Given the description of an element on the screen output the (x, y) to click on. 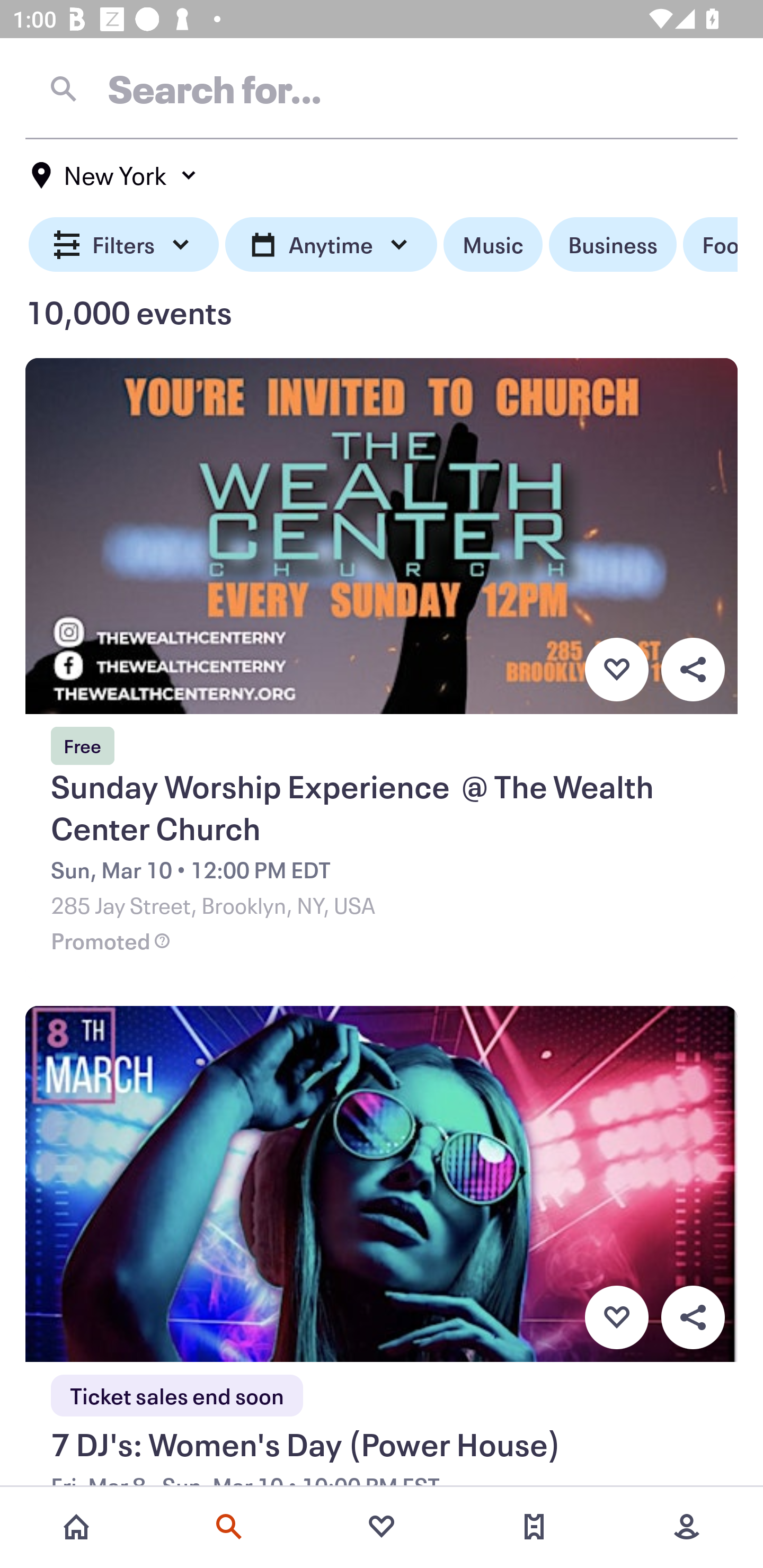
Search for… (381, 88)
New York (114, 175)
Filters (123, 244)
Anytime (331, 244)
Music (492, 244)
Business (612, 244)
Favorite button (616, 669)
Overflow menu button (692, 669)
Favorite button (616, 1317)
Overflow menu button (692, 1317)
Home (76, 1526)
Search events (228, 1526)
Favorites (381, 1526)
Tickets (533, 1526)
More (686, 1526)
